Given the description of an element on the screen output the (x, y) to click on. 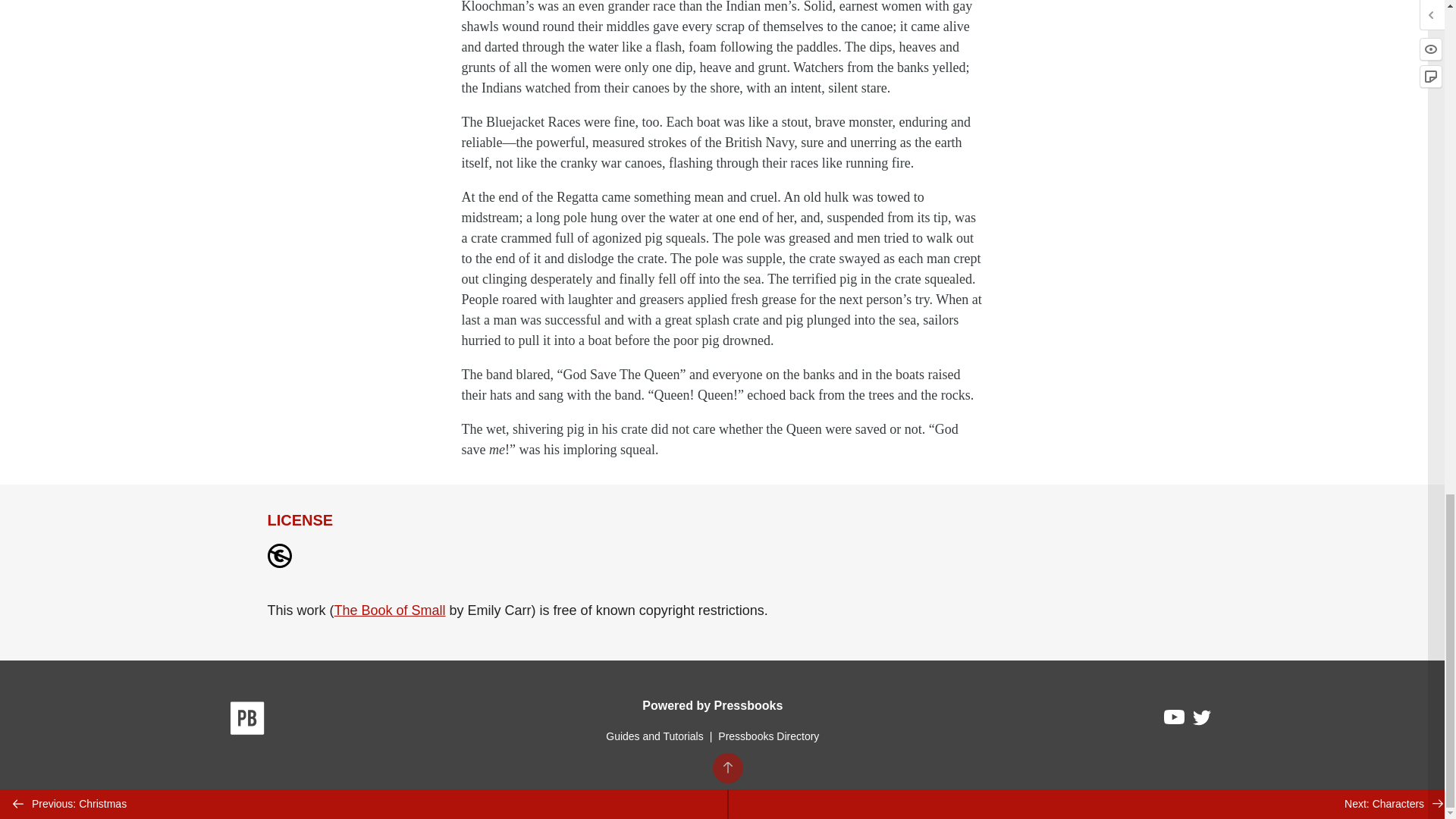
Pressbooks on YouTube (1174, 721)
Pressbooks Directory (768, 736)
The Book of Small (389, 610)
Guides and Tutorials (654, 736)
Powered by Pressbooks (712, 705)
